Given the description of an element on the screen output the (x, y) to click on. 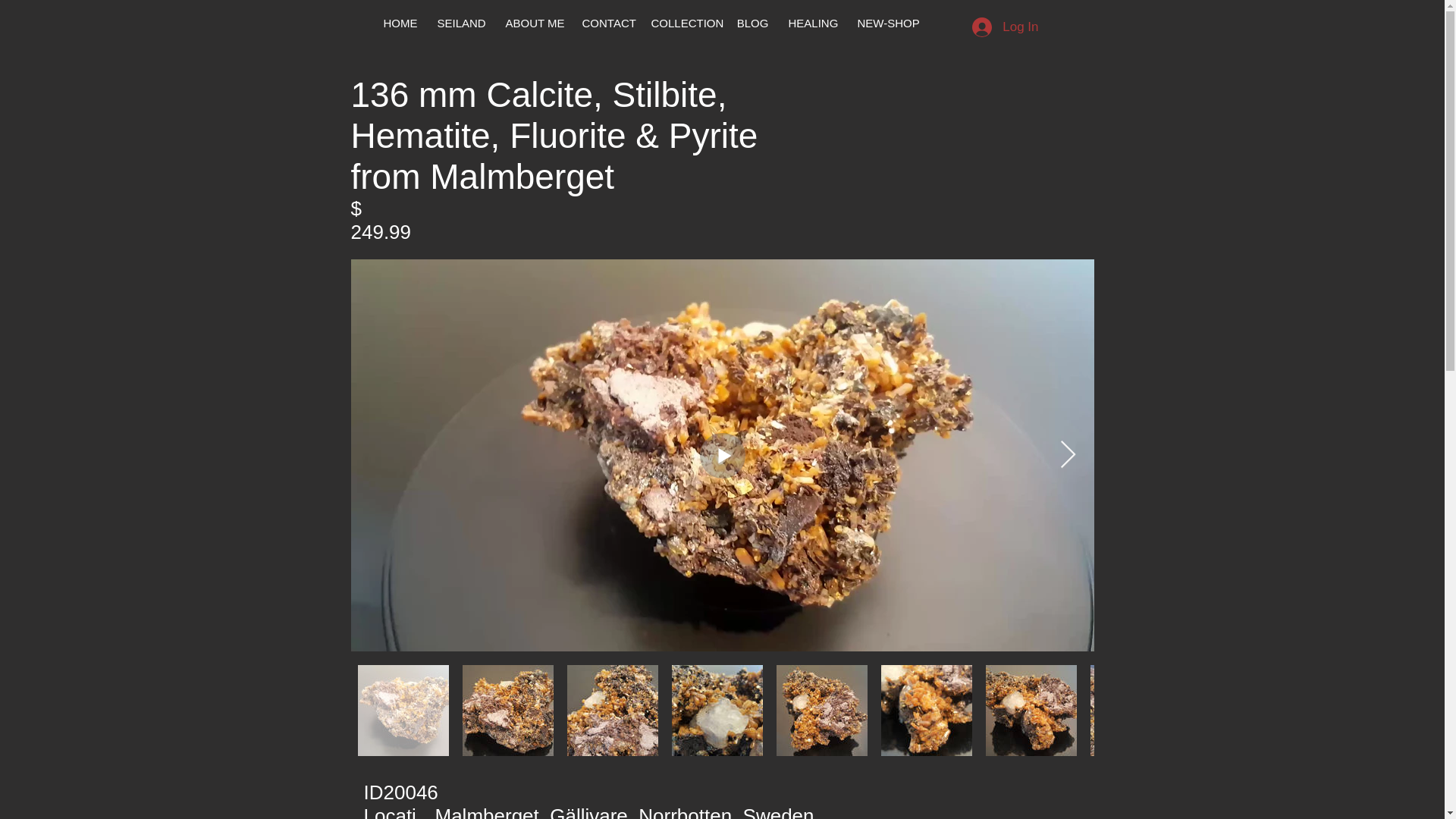
COLLECTION (684, 23)
CONTACT (606, 23)
Log In (1004, 26)
BLOG (751, 23)
HEALING (812, 23)
ABOUT ME (534, 23)
NEW-SHOP (887, 23)
HOME (399, 23)
SEILAND (462, 23)
